Given the description of an element on the screen output the (x, y) to click on. 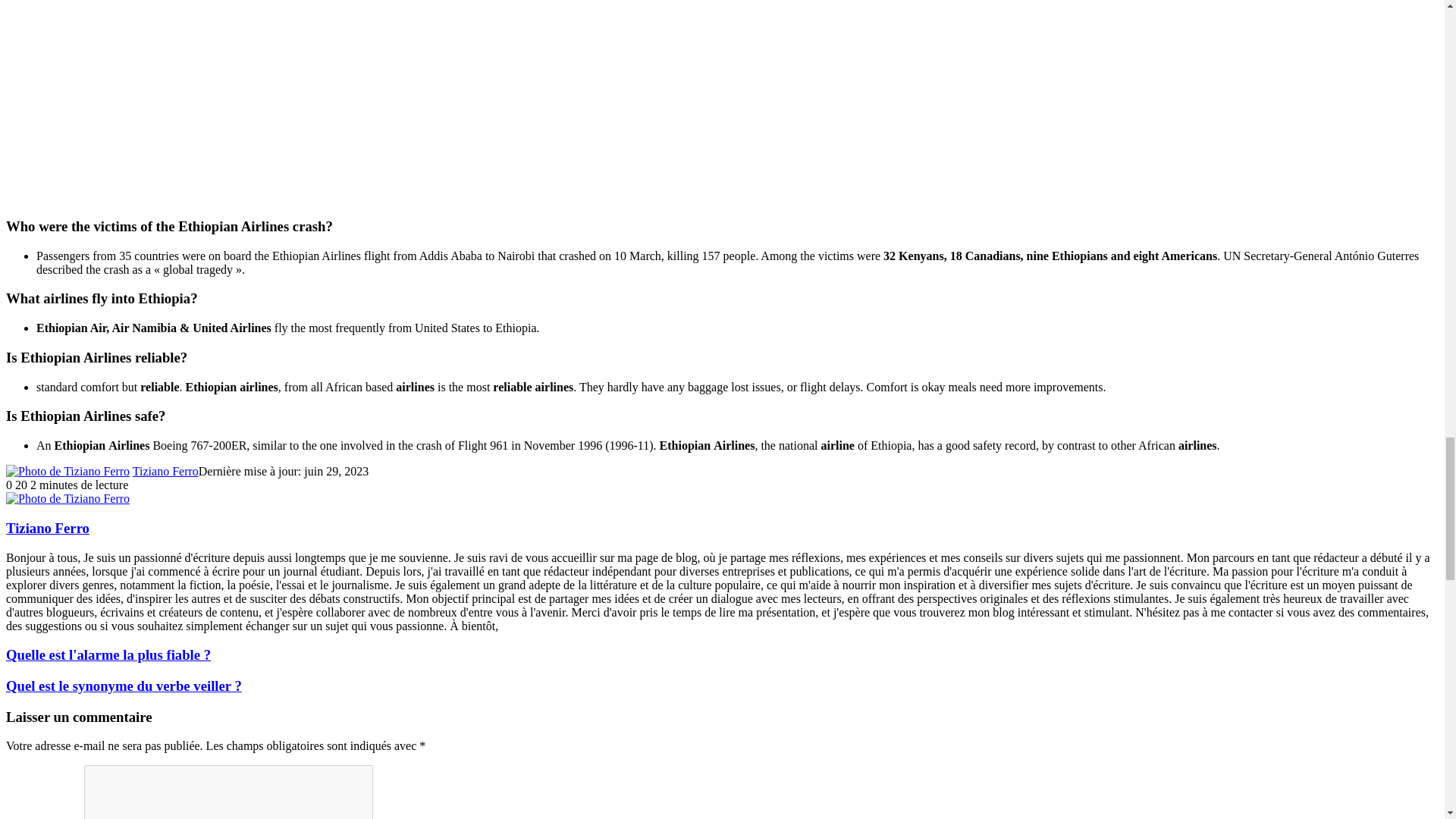
Tiziano Ferro (46, 528)
Tiziano Ferro (165, 471)
Tiziano Ferro (165, 471)
